Given the description of an element on the screen output the (x, y) to click on. 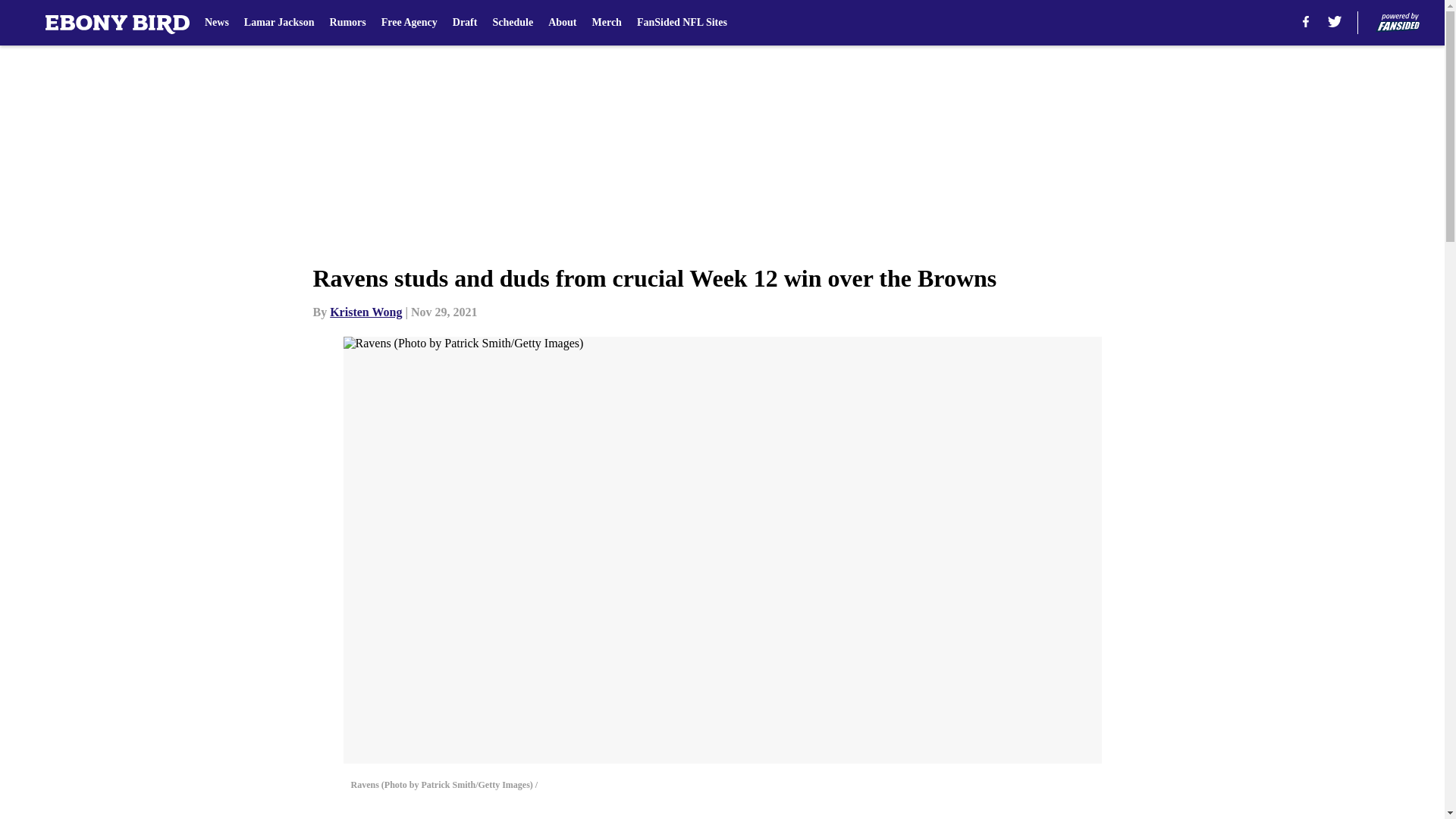
Draft (464, 22)
Merch (606, 22)
News (216, 22)
Rumors (348, 22)
Lamar Jackson (279, 22)
Schedule (512, 22)
Kristen Wong (365, 311)
About (562, 22)
FanSided NFL Sites (681, 22)
Free Agency (409, 22)
